Given the description of an element on the screen output the (x, y) to click on. 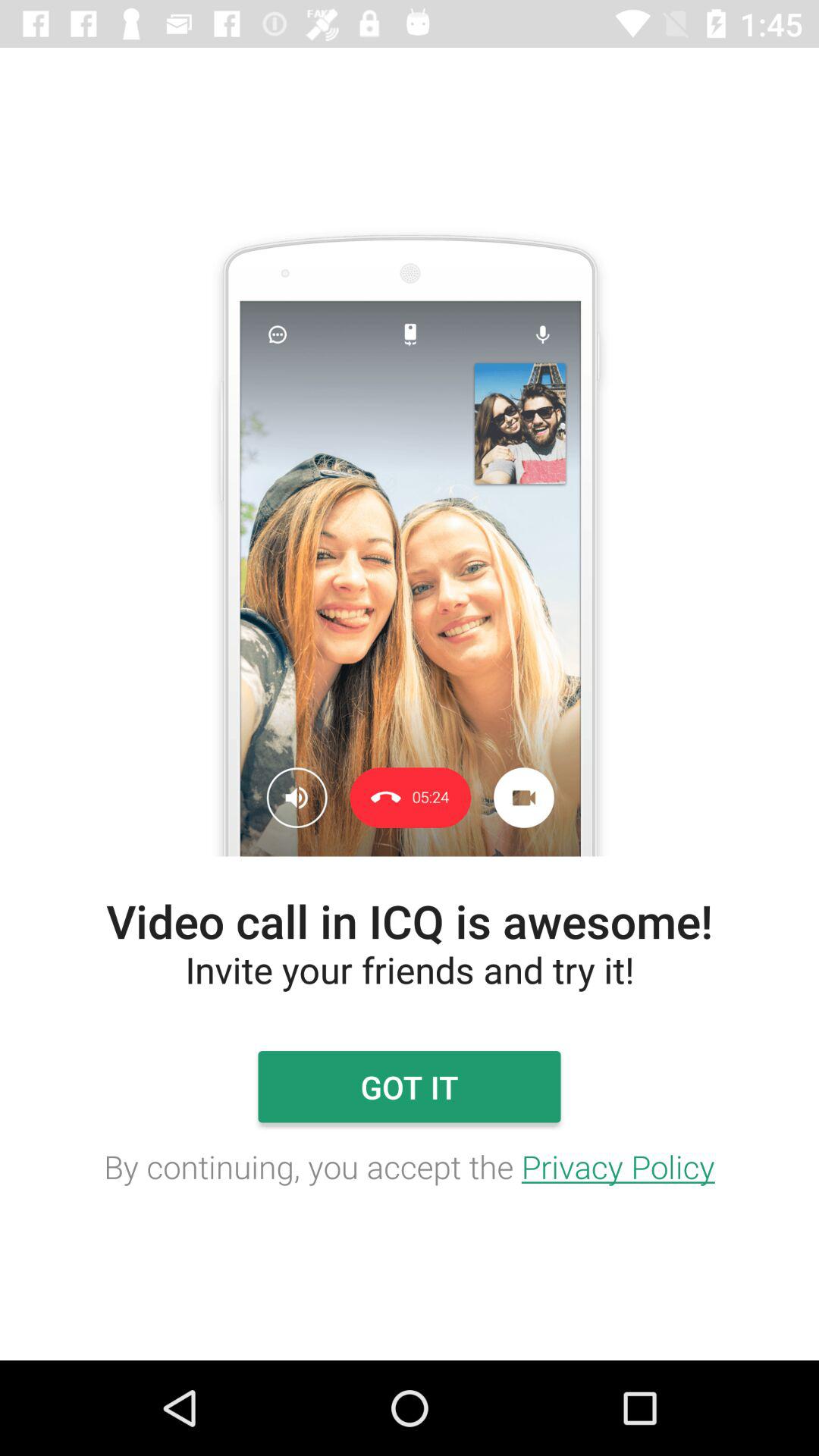
turn on got it (409, 1086)
